Given the description of an element on the screen output the (x, y) to click on. 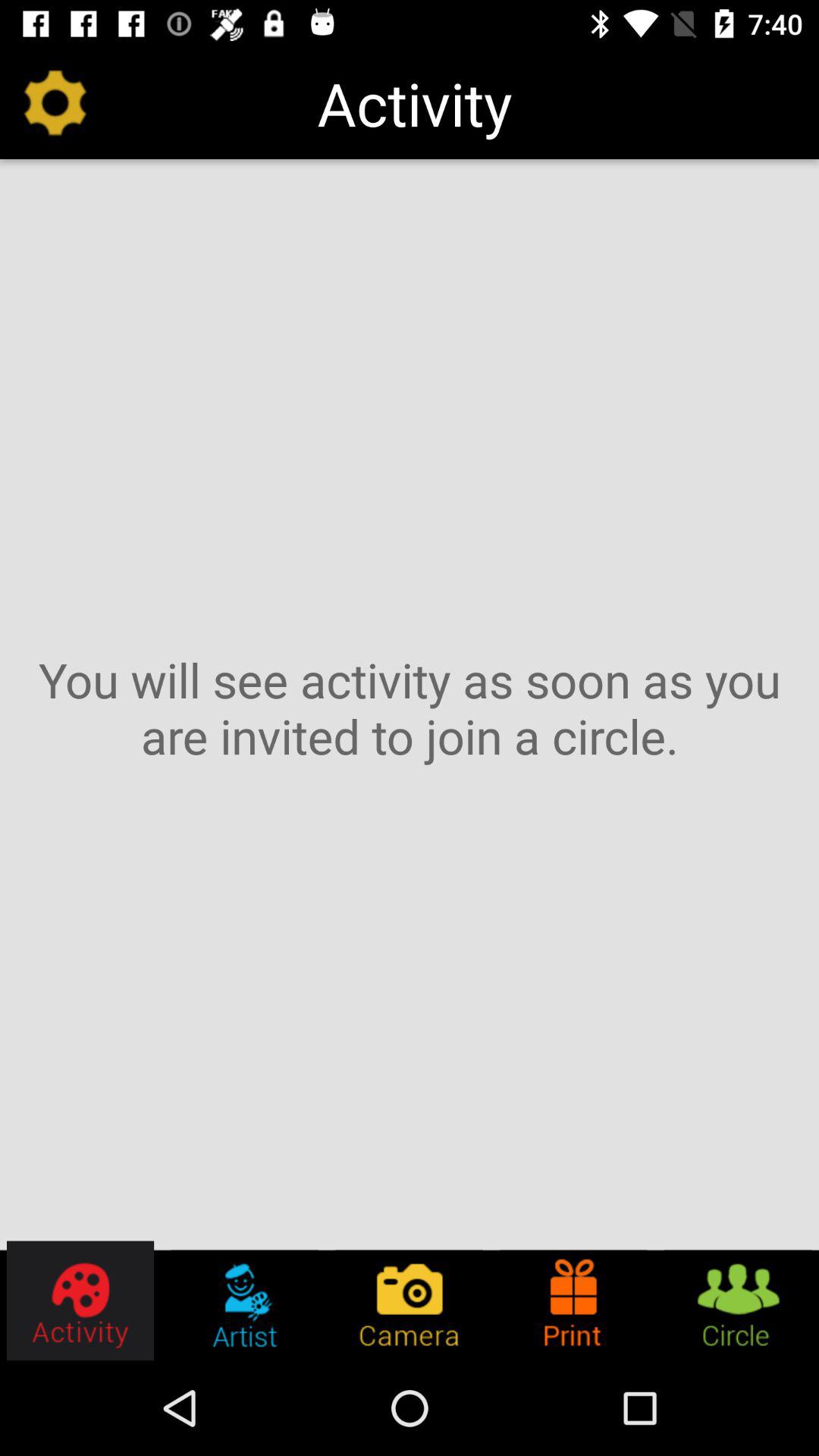
select the item below the you will see (81, 1300)
